Given the description of an element on the screen output the (x, y) to click on. 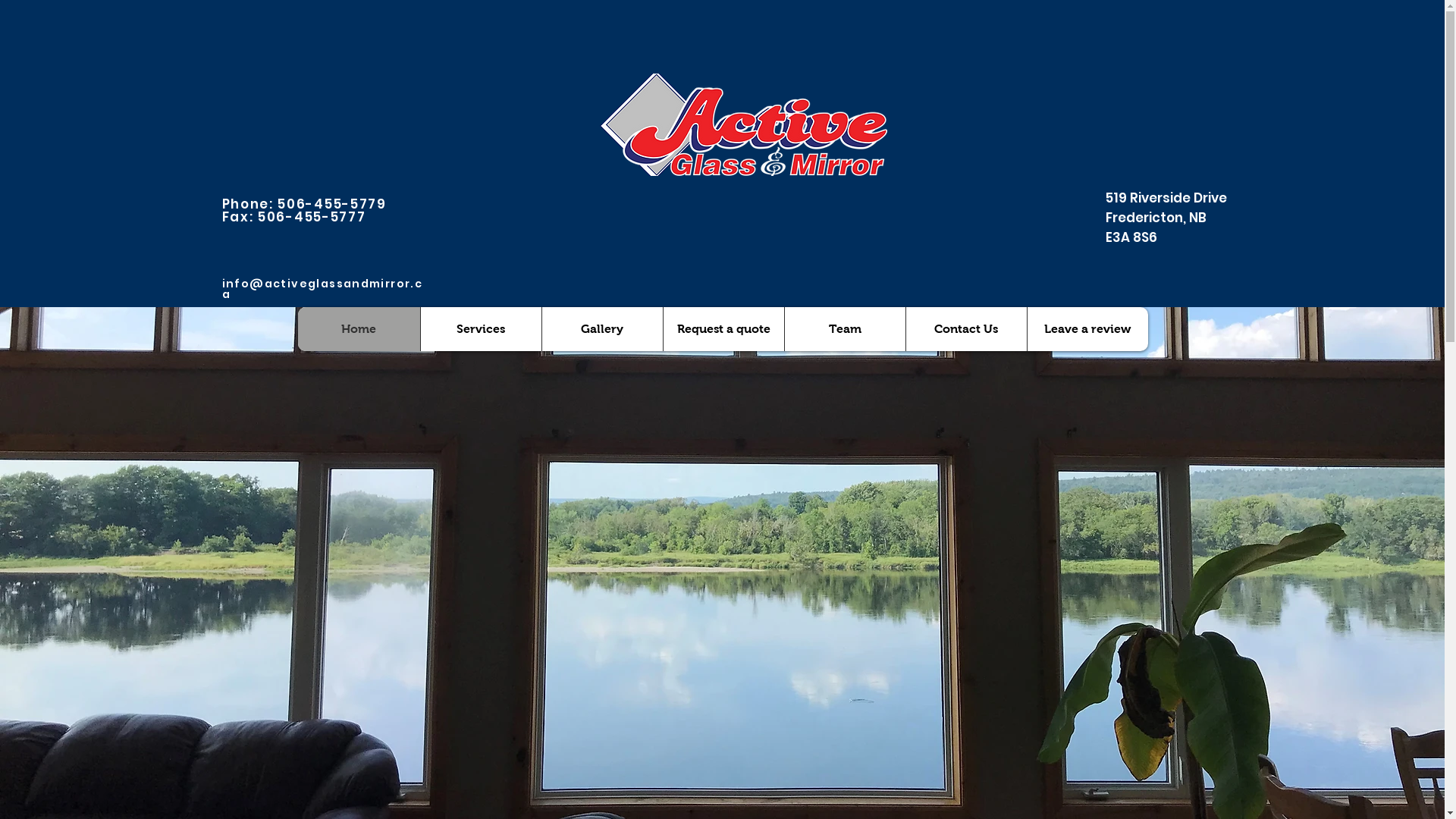
Request a quote Element type: text (723, 329)
Contact Us Element type: text (965, 329)
Team Element type: text (844, 329)
info@activeglassandmirror.ca Element type: text (321, 288)
Home Element type: text (358, 329)
Gallery Element type: text (601, 329)
Services Element type: text (480, 329)
Leave a review Element type: text (1087, 329)
